Given the description of an element on the screen output the (x, y) to click on. 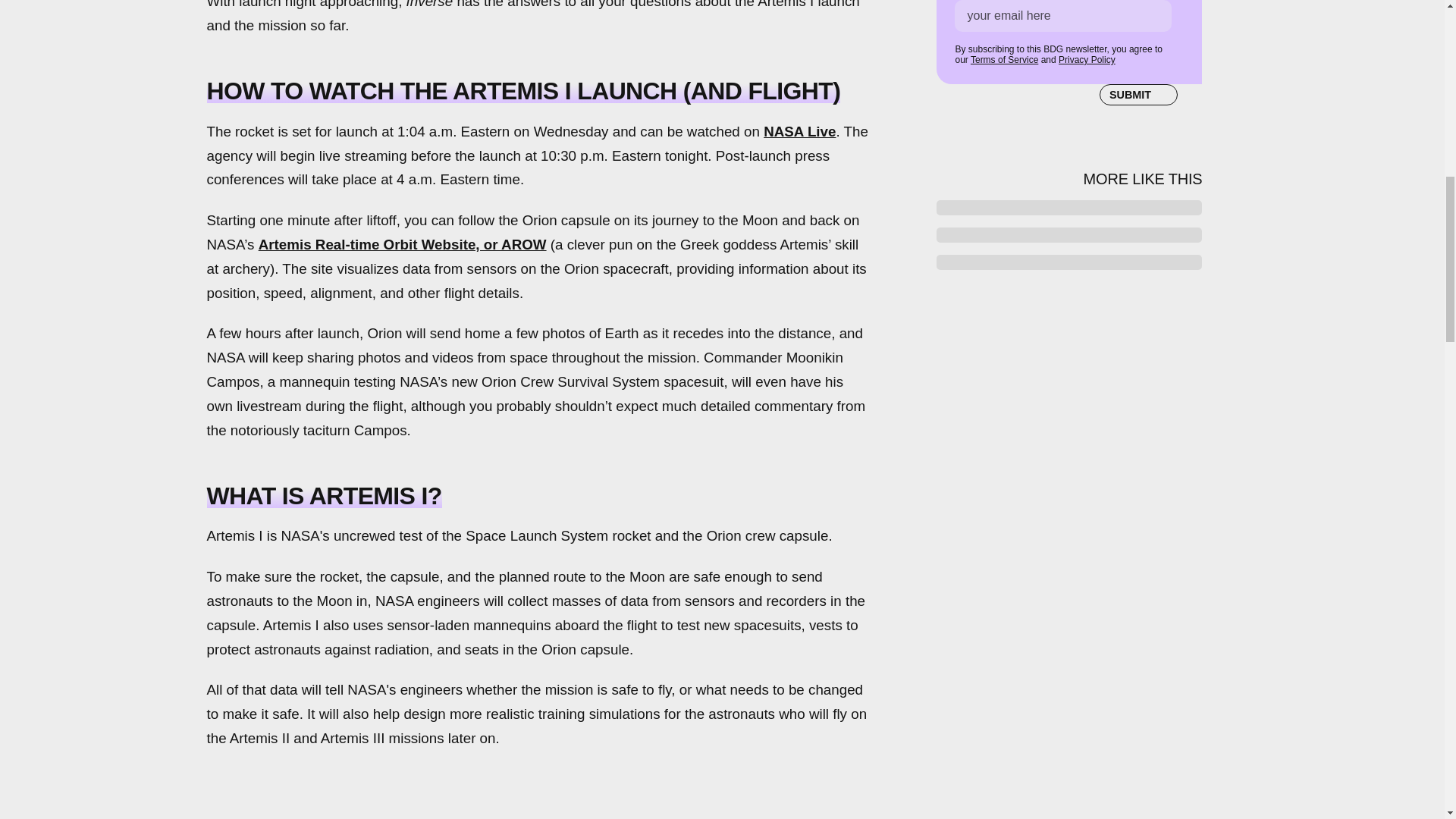
Artemis Real-time Orbit Website, or AROW (403, 244)
NASA Live (798, 131)
Terms of Service (1004, 59)
Privacy Policy (1086, 59)
SUBMIT (1138, 94)
